Given the description of an element on the screen output the (x, y) to click on. 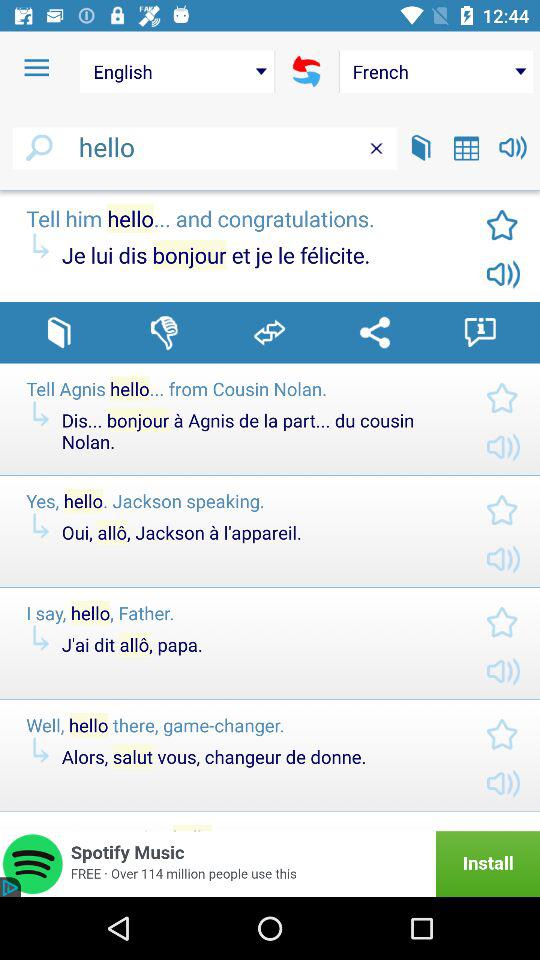
open advertisement (270, 864)
